Given the description of an element on the screen output the (x, y) to click on. 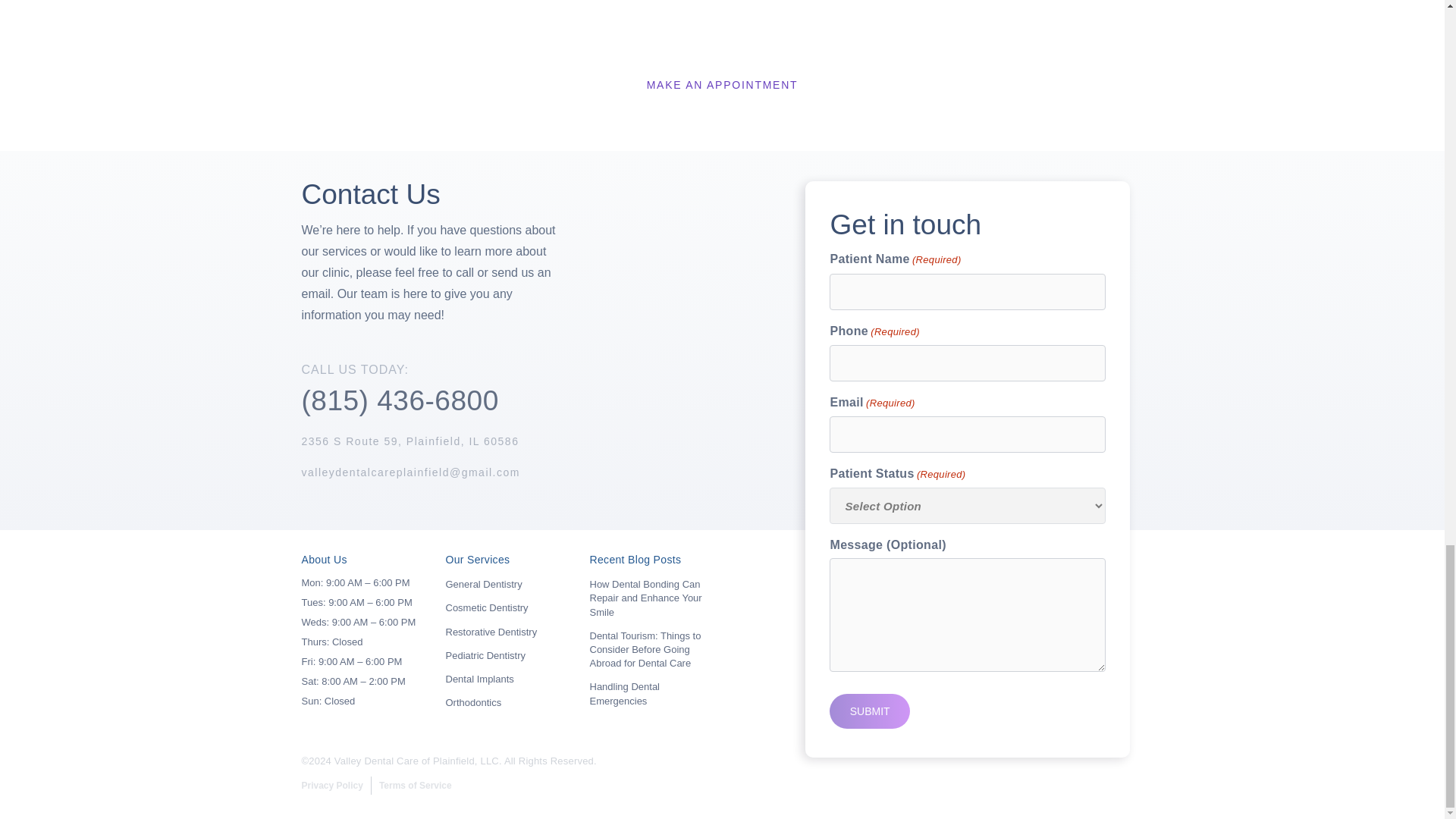
MAKE AN APPOINTMENT (721, 85)
2356 S Route 59, Plainfield, IL 60586 (410, 440)
Submit (868, 710)
How Dental Bonding Can Repair and Enhance Your Smile (645, 597)
General Dentistry (483, 583)
Submit (868, 710)
Orthodontics (473, 702)
Cosmetic Dentistry (486, 607)
Dental Implants (479, 678)
Handling Dental Emergencies (625, 692)
Pediatric Dentistry (485, 655)
Restorative Dentistry (491, 632)
